Given the description of an element on the screen output the (x, y) to click on. 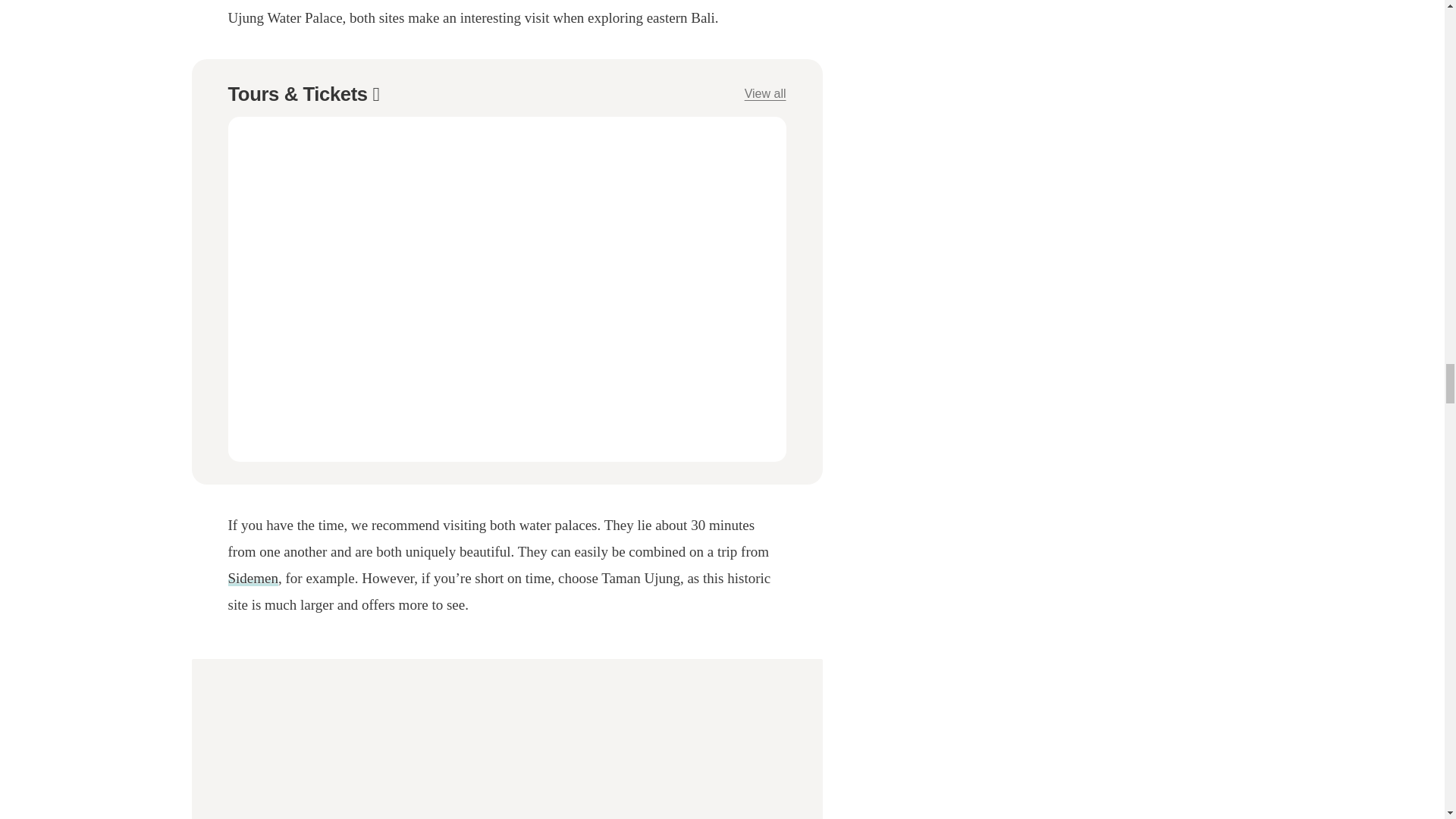
View all (765, 94)
Sidemen (252, 578)
